Given the description of an element on the screen output the (x, y) to click on. 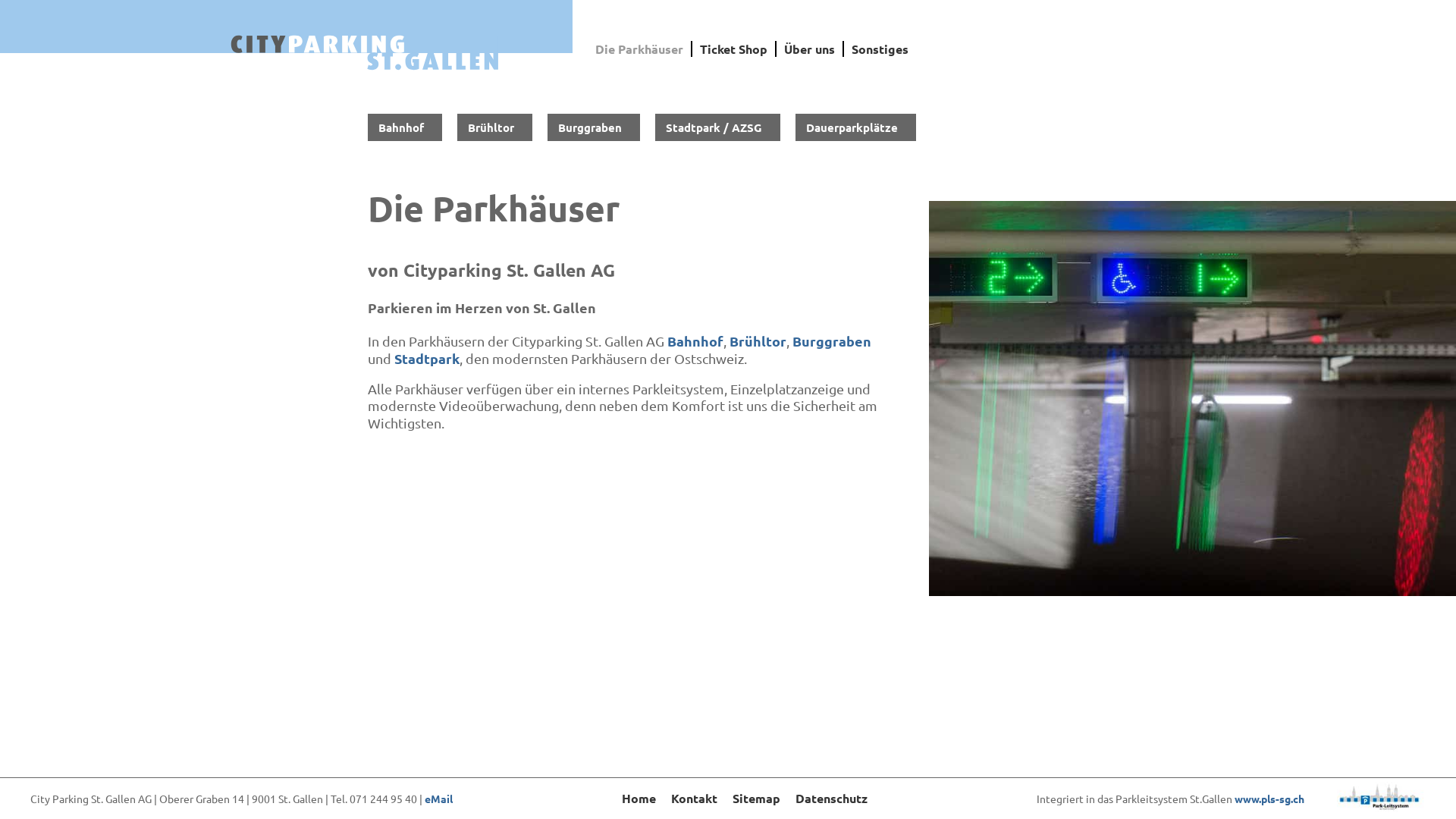
Sonstiges Element type: text (880, 48)
www.pls-sg.ch Element type: text (1269, 798)
Burggraben Element type: text (593, 127)
Sitemap Element type: text (756, 798)
Stadtpark Element type: text (426, 358)
Burggraben Element type: text (831, 340)
eMail Element type: text (438, 798)
Home Element type: text (638, 798)
Ticket Shop Element type: text (734, 48)
Bahnhof Element type: text (404, 127)
Stadtpark / AZSG Element type: text (717, 127)
Datenschutz Element type: text (831, 798)
Kontakt Element type: text (694, 798)
Home von Cityparking laden Element type: hover (363, 52)
Bahnhof Element type: text (695, 340)
